Given the description of an element on the screen output the (x, y) to click on. 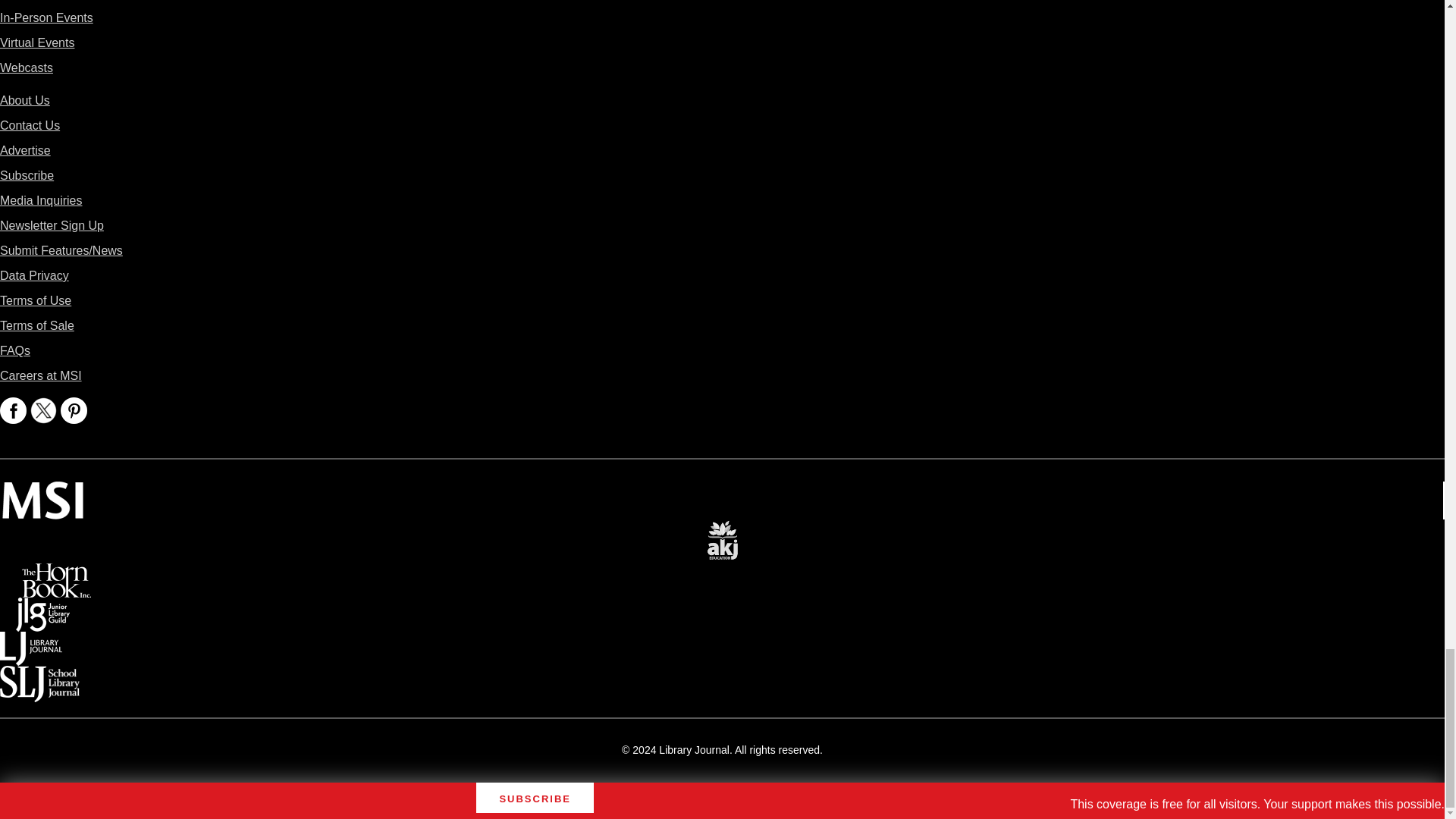
School Library Journal (40, 676)
Media Source Incorporated (42, 491)
AKJ (722, 529)
The Horn Book (56, 573)
Junior Library Guild (42, 607)
